Given the description of an element on the screen output the (x, y) to click on. 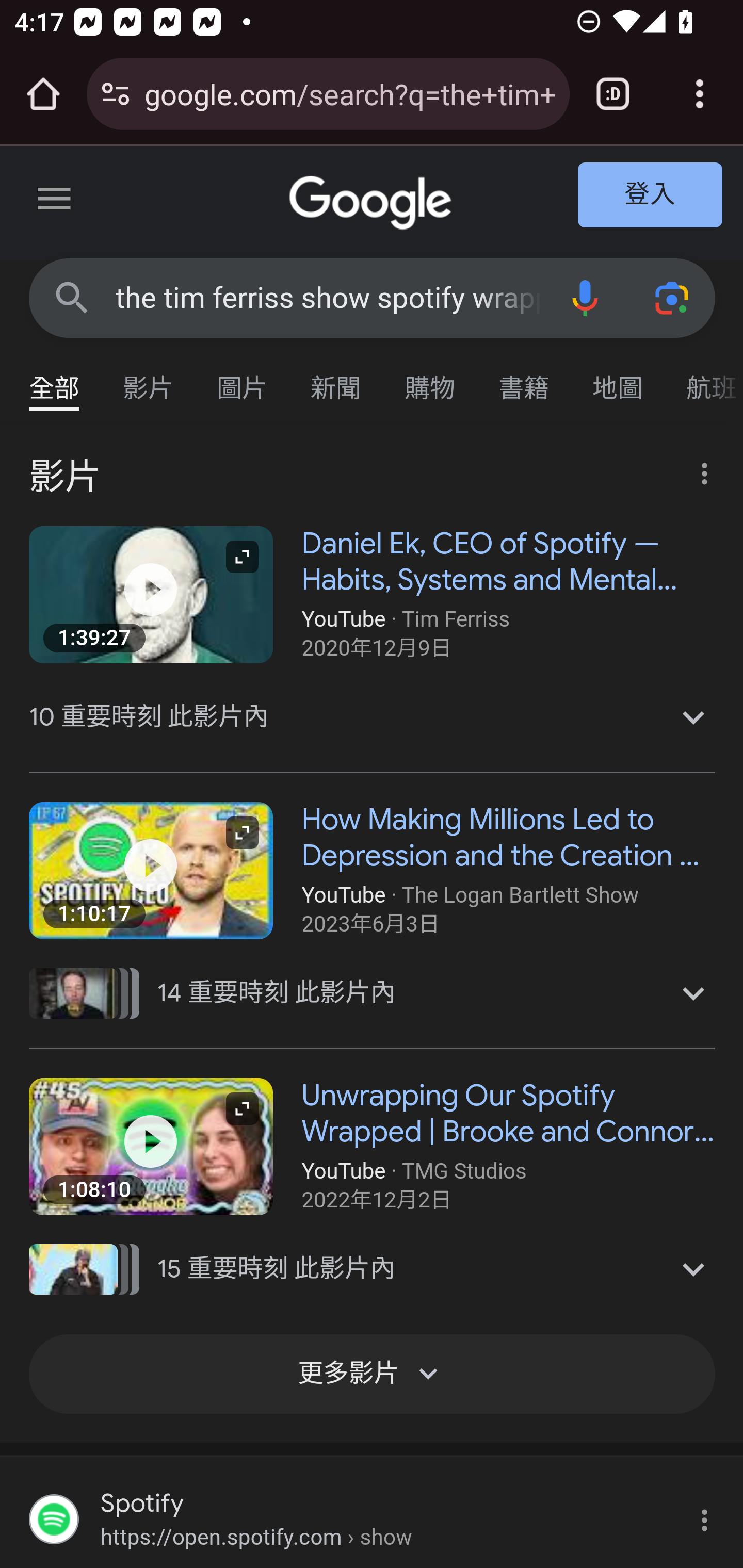
Open the home page (43, 93)
Connection is secure (115, 93)
Switch or close tabs (612, 93)
Customize and control Google Chrome (699, 93)
